Given the description of an element on the screen output the (x, y) to click on. 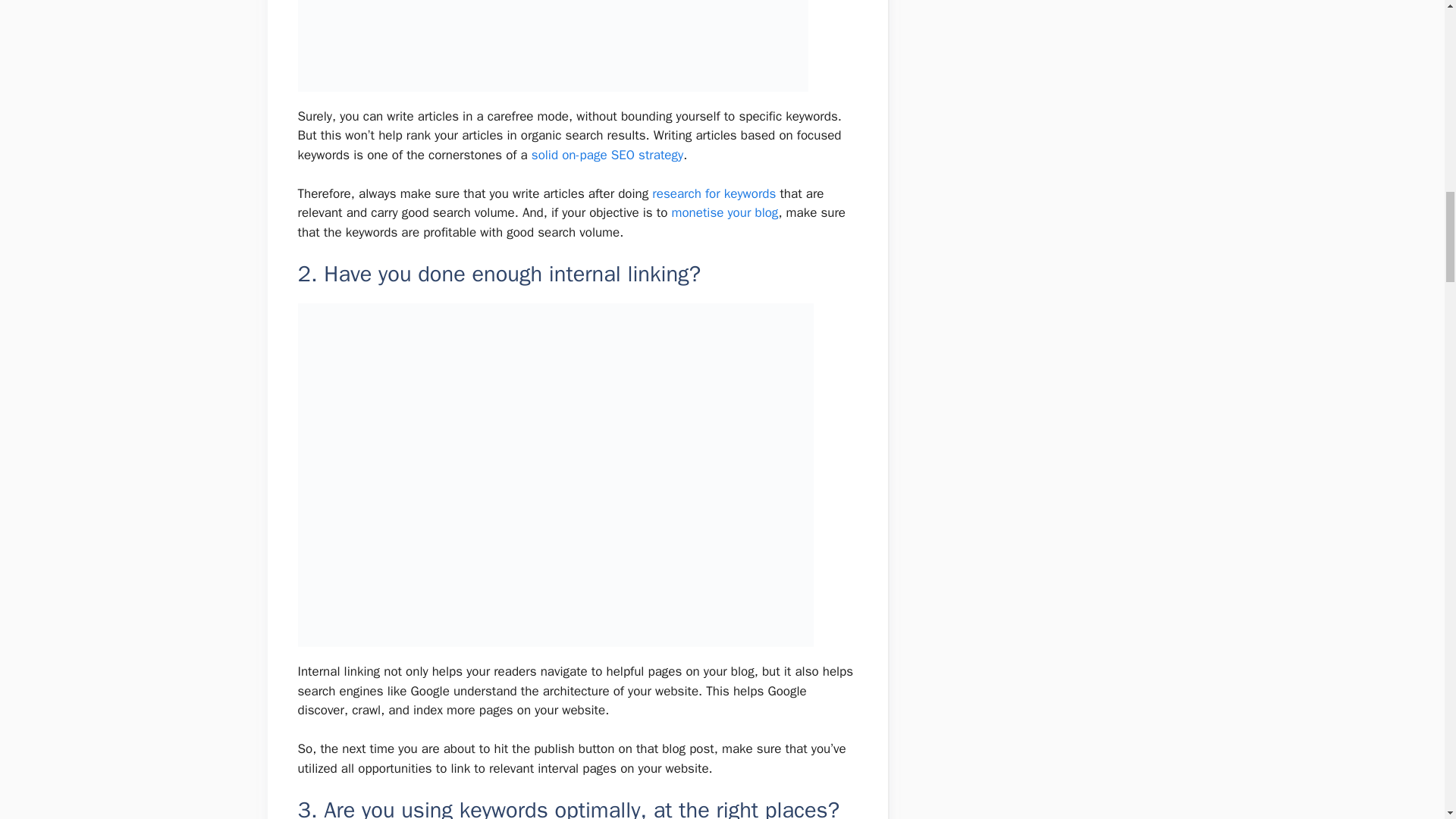
solid on-page SEO strategy (606, 154)
monetise your blog (724, 212)
research for keywords (714, 193)
